Given the description of an element on the screen output the (x, y) to click on. 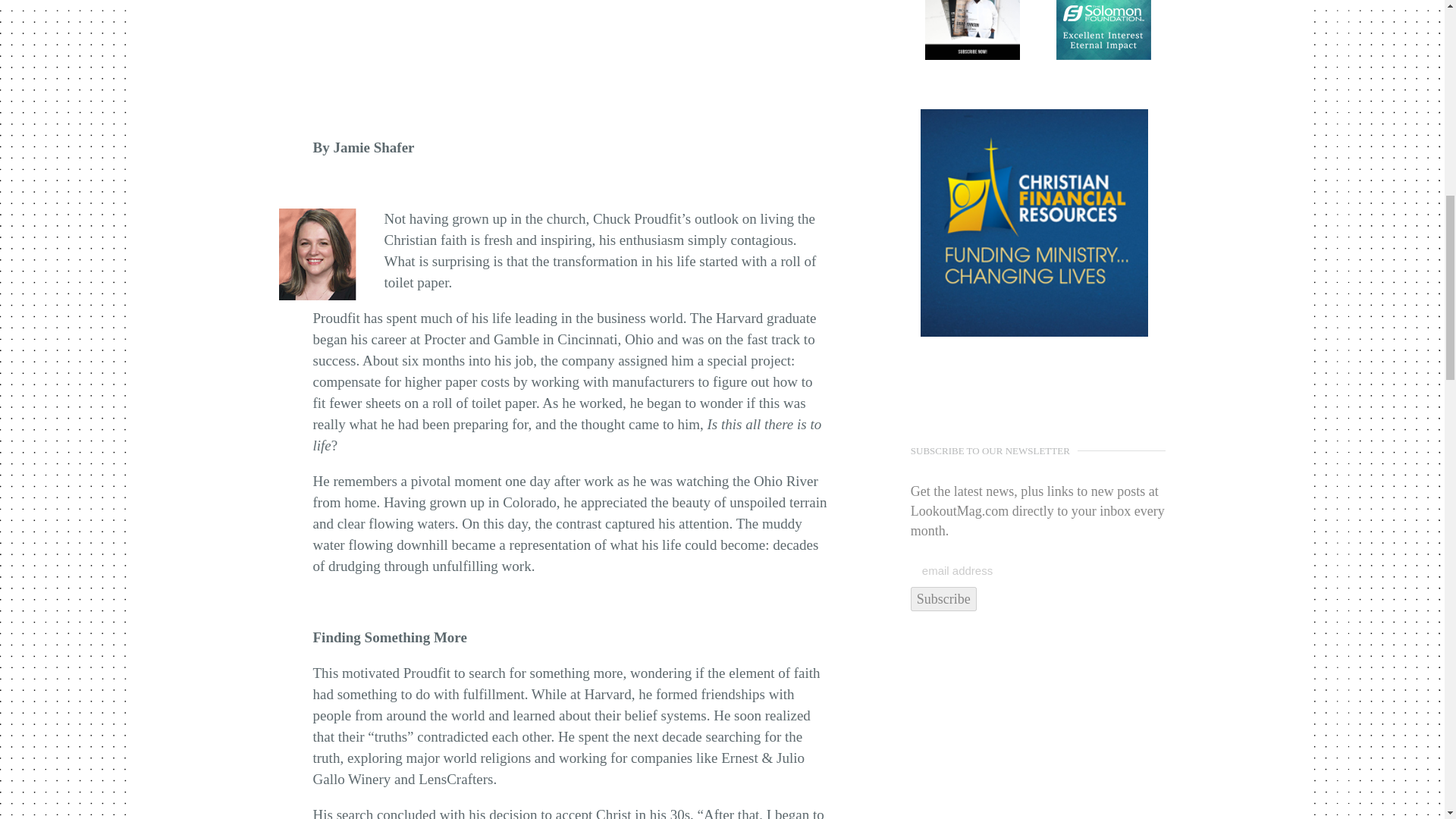
Subscribe (943, 598)
